Given the description of an element on the screen output the (x, y) to click on. 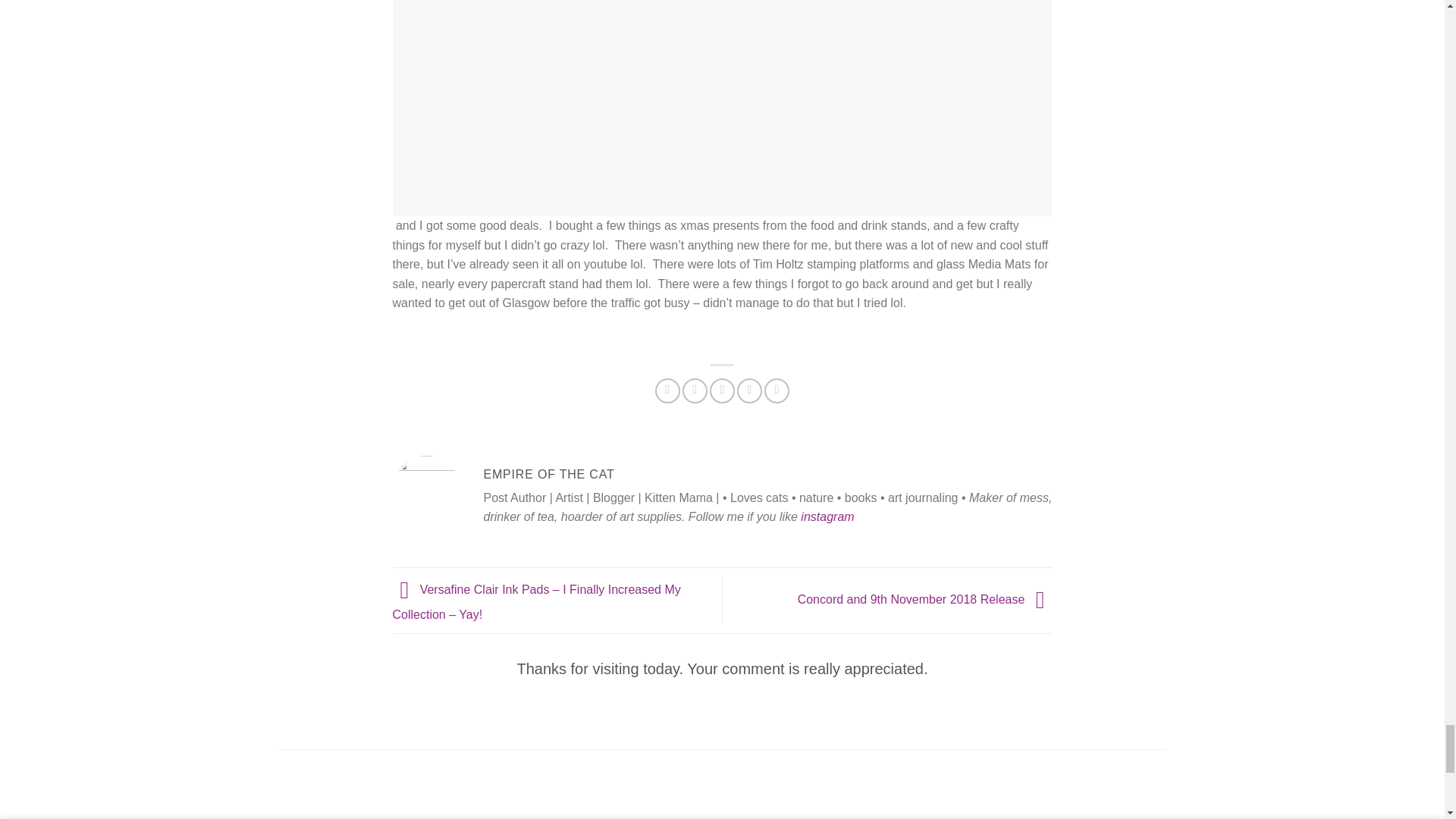
Share on Twitter (694, 390)
Email to a Friend (722, 390)
Pin on Pinterest (748, 390)
Share on Tumblr (776, 390)
Share on Facebook (667, 390)
